Given the description of an element on the screen output the (x, y) to click on. 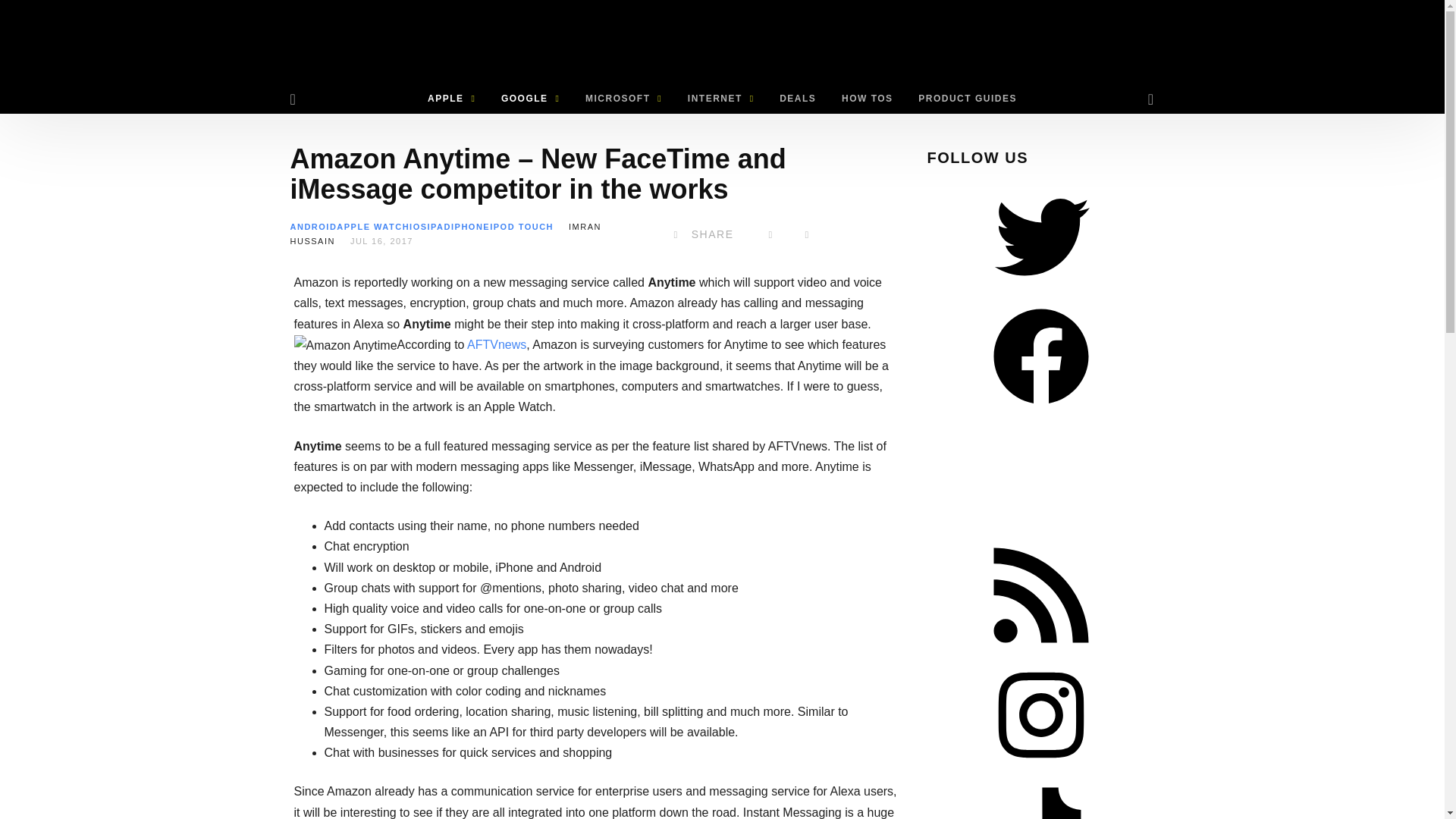
IPHONE (470, 225)
More (807, 234)
DEALS (797, 98)
View all posts in Apple Watch (372, 225)
PRODUCT GUIDES (967, 98)
View all posts in Android (312, 225)
Share on Twitter (770, 234)
IPAD (439, 225)
View all posts in iOS (417, 225)
View all posts in iPod Touch (521, 225)
